Given the description of an element on the screen output the (x, y) to click on. 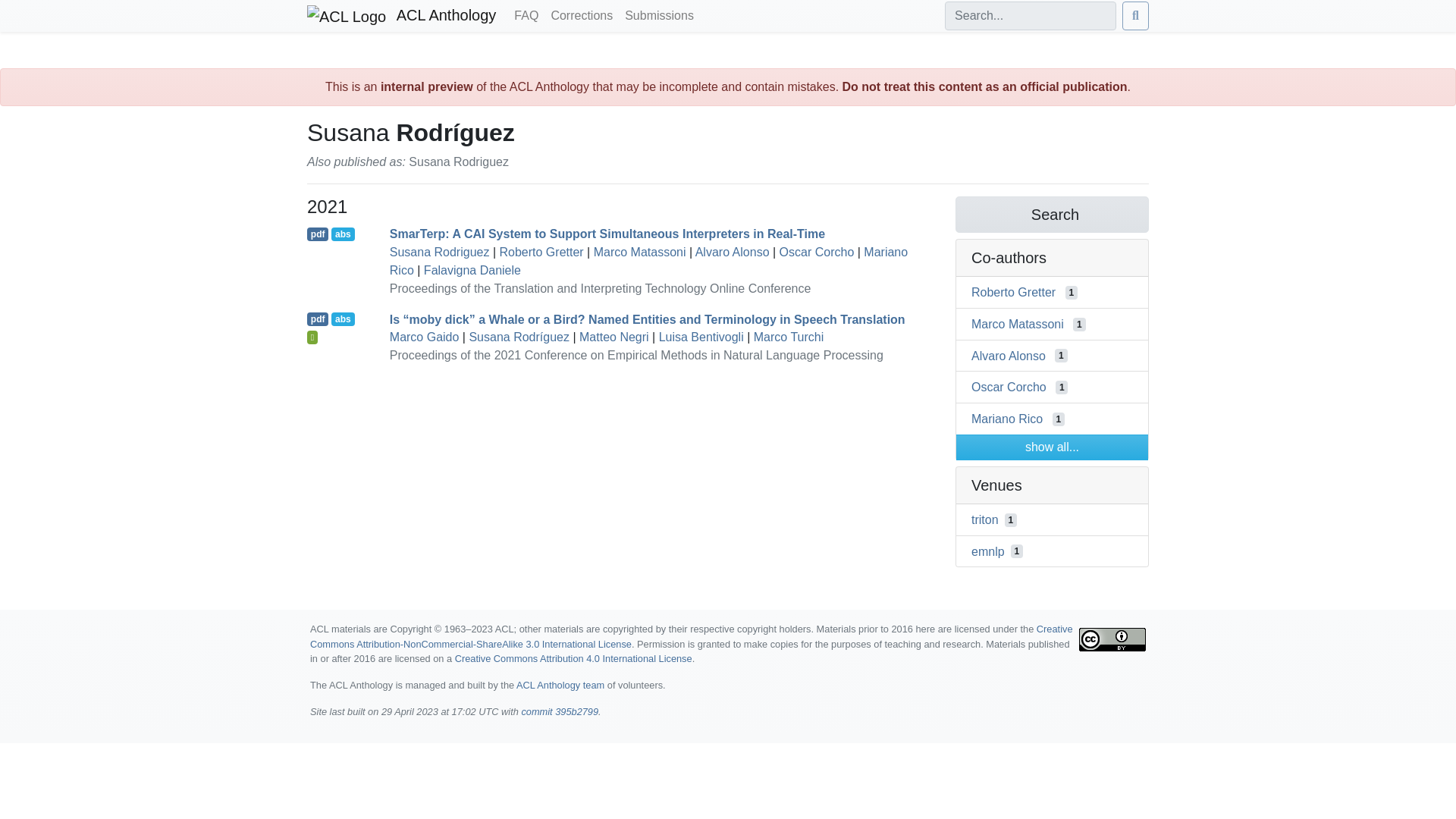
Roberto Gretter (1013, 291)
Matteo Negri (614, 336)
pdf (318, 233)
Show Abstract (342, 318)
triton (984, 519)
Oscar Corcho (1008, 386)
Susana Rodriguez (439, 251)
Marco Matassoni (1017, 323)
abs (342, 318)
Search (1051, 214)
Falavigna Daniele (472, 269)
Roberto Gretter (541, 251)
Oscar Corcho (816, 251)
Mariano Rico (1006, 418)
